Given the description of an element on the screen output the (x, y) to click on. 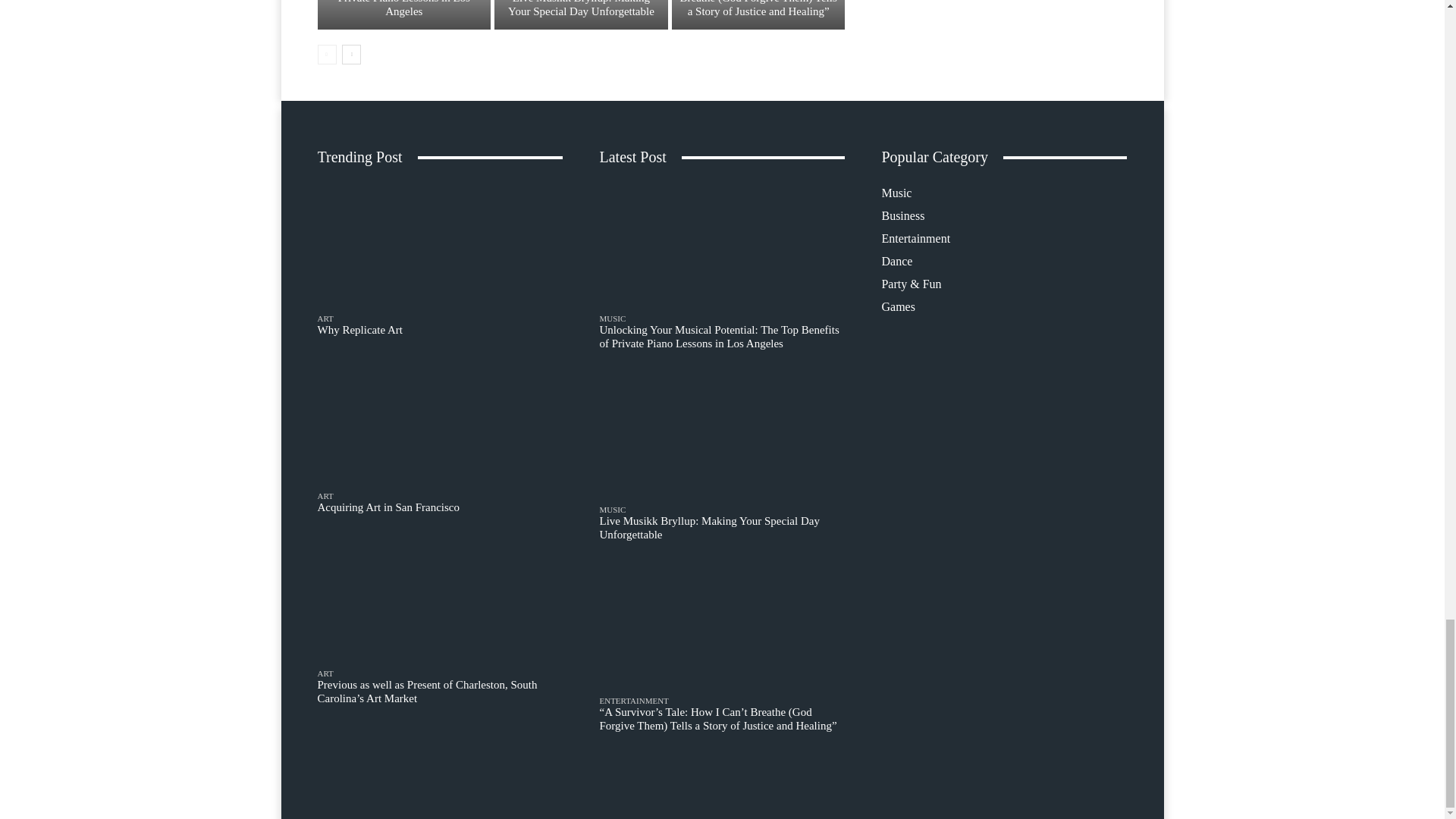
Live Musikk Bryllup: Making Your Special Day Unforgettable (581, 14)
Live Musikk Bryllup: Making Your Special Day Unforgettable (580, 8)
